Given the description of an element on the screen output the (x, y) to click on. 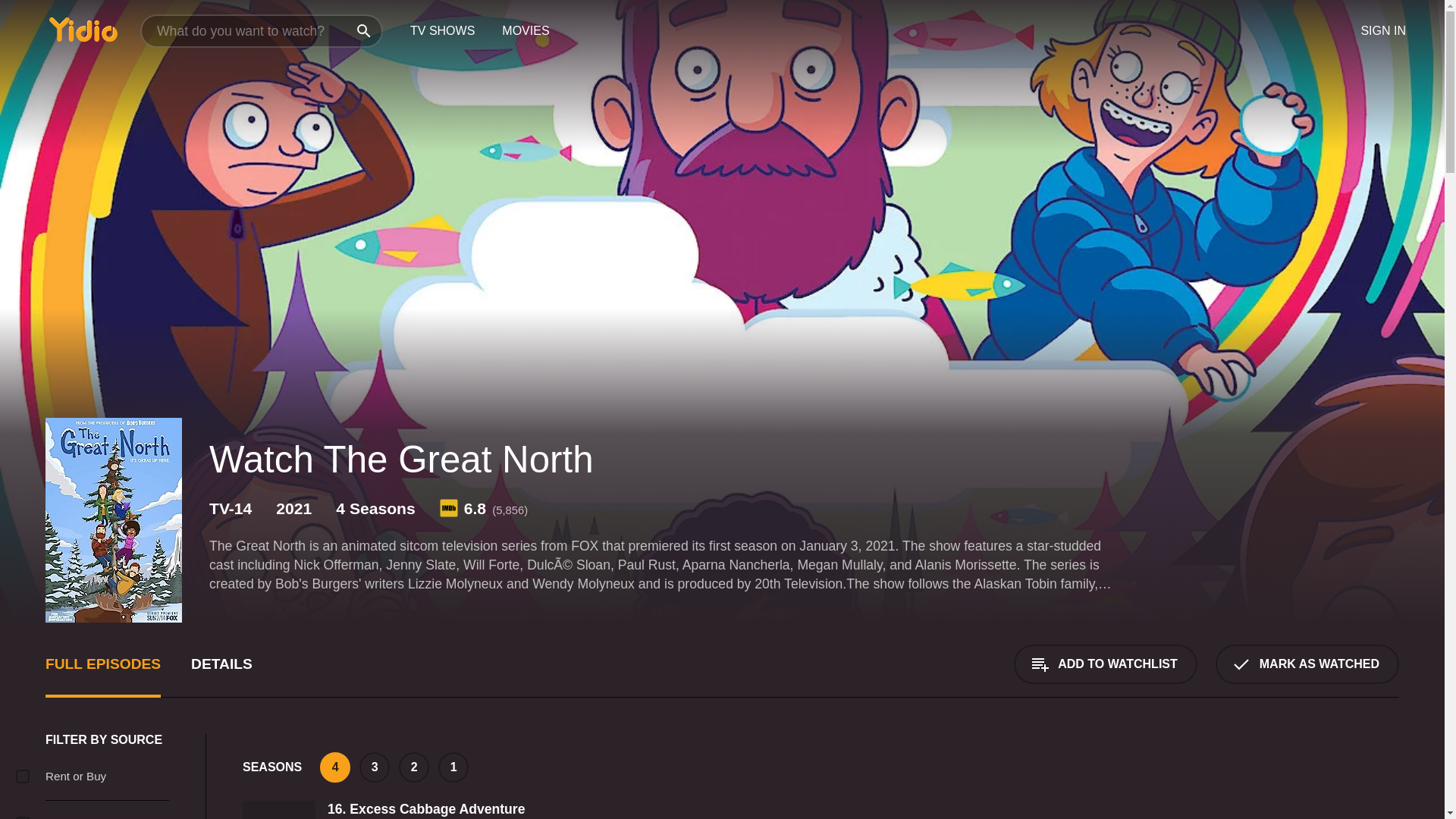
pay (22, 775)
Advertisement (1302, 776)
MOVIES (524, 31)
Yidio (82, 29)
ADD TO WATCHLIST (1104, 663)
MARK AS WATCHED (1307, 663)
TV SHOWS (441, 31)
